Given the description of an element on the screen output the (x, y) to click on. 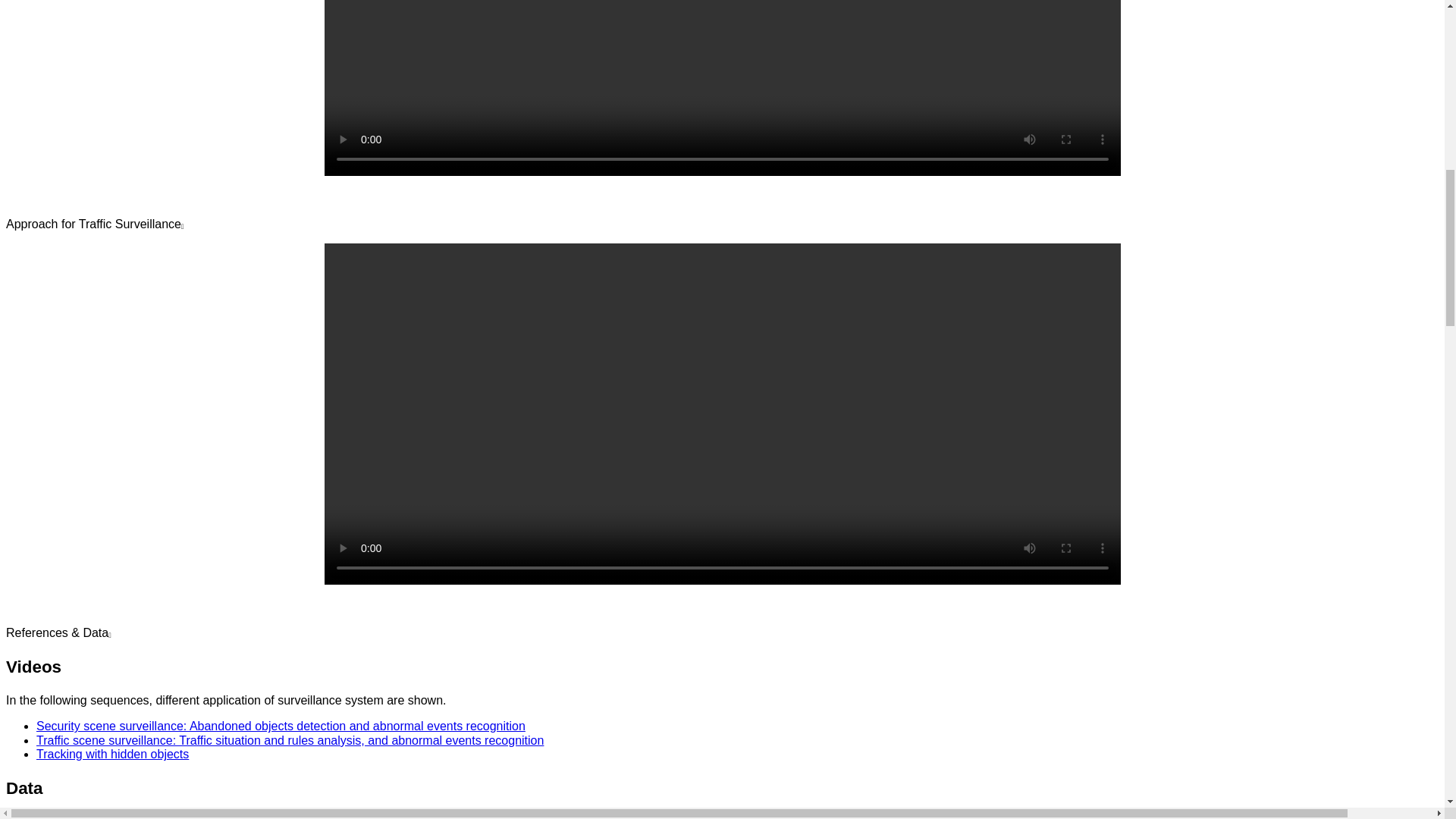
Approach for Traffic Surveillance (94, 223)
Tracking with hidden objects (112, 753)
